Given the description of an element on the screen output the (x, y) to click on. 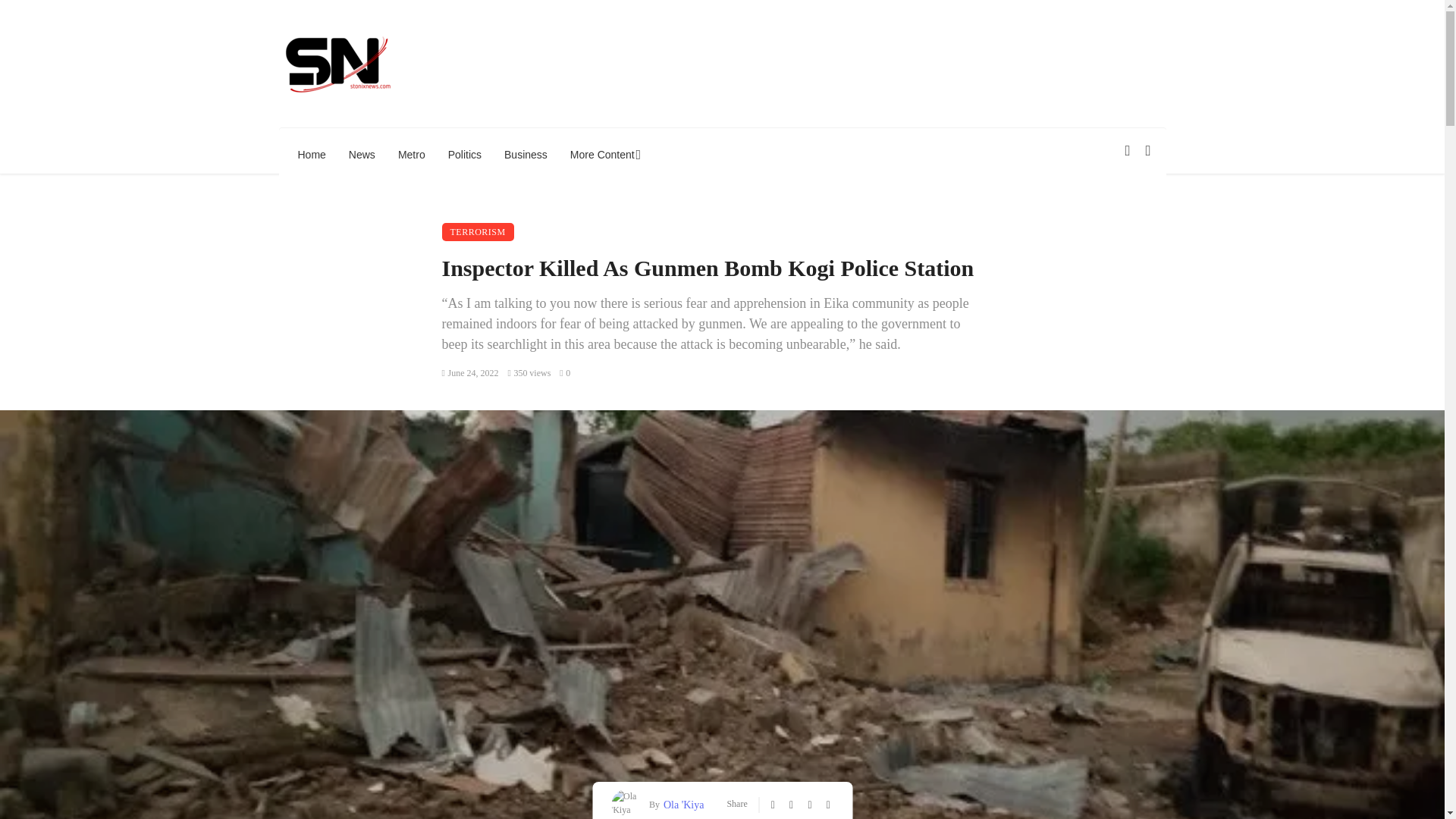
News (362, 154)
Home (311, 154)
Politics (464, 154)
Metro (411, 154)
